Given the description of an element on the screen output the (x, y) to click on. 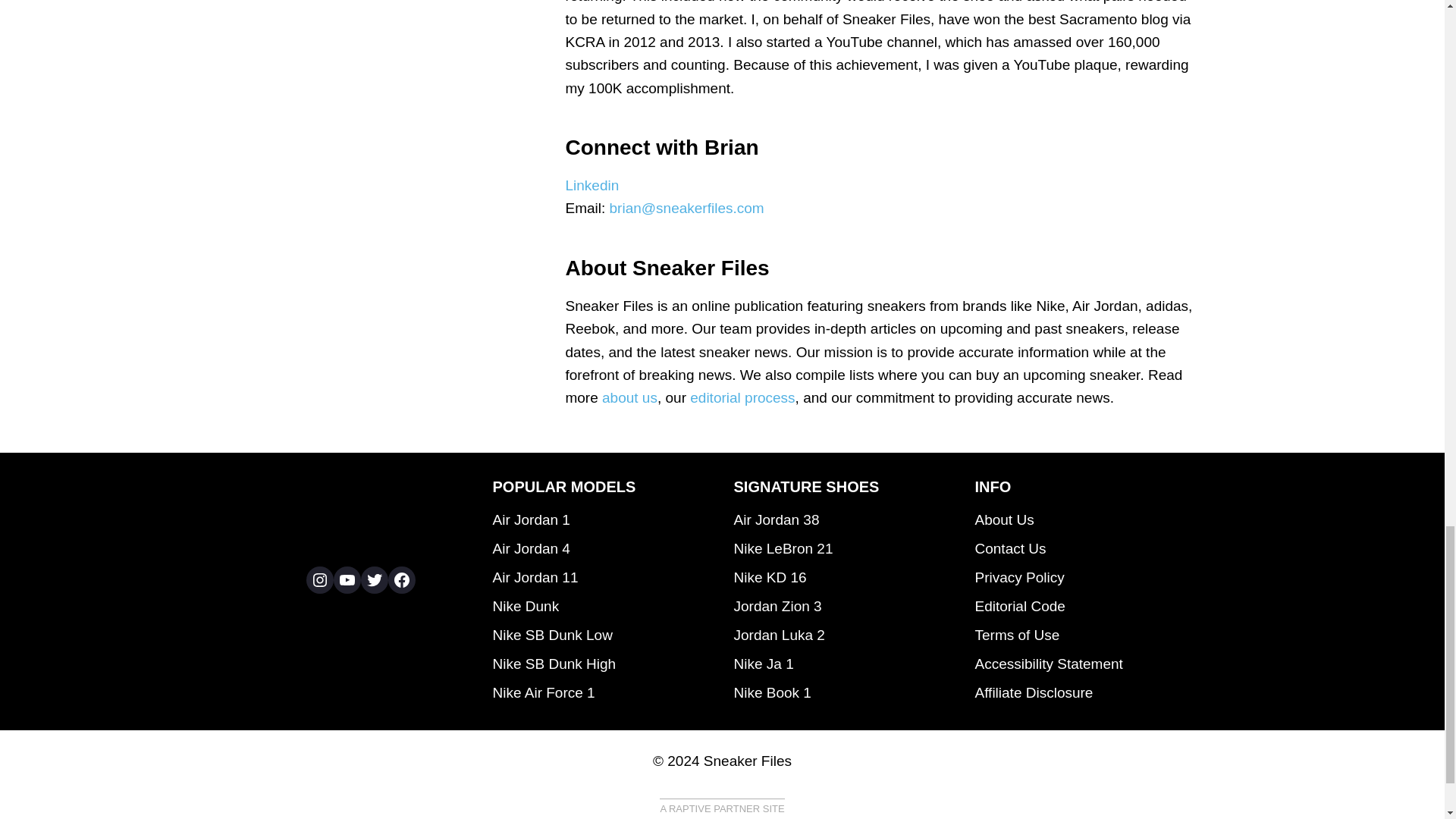
editorial process (742, 397)
YouTube (347, 579)
Linkedin (591, 185)
Instagram (319, 579)
about us (630, 397)
